Given the description of an element on the screen output the (x, y) to click on. 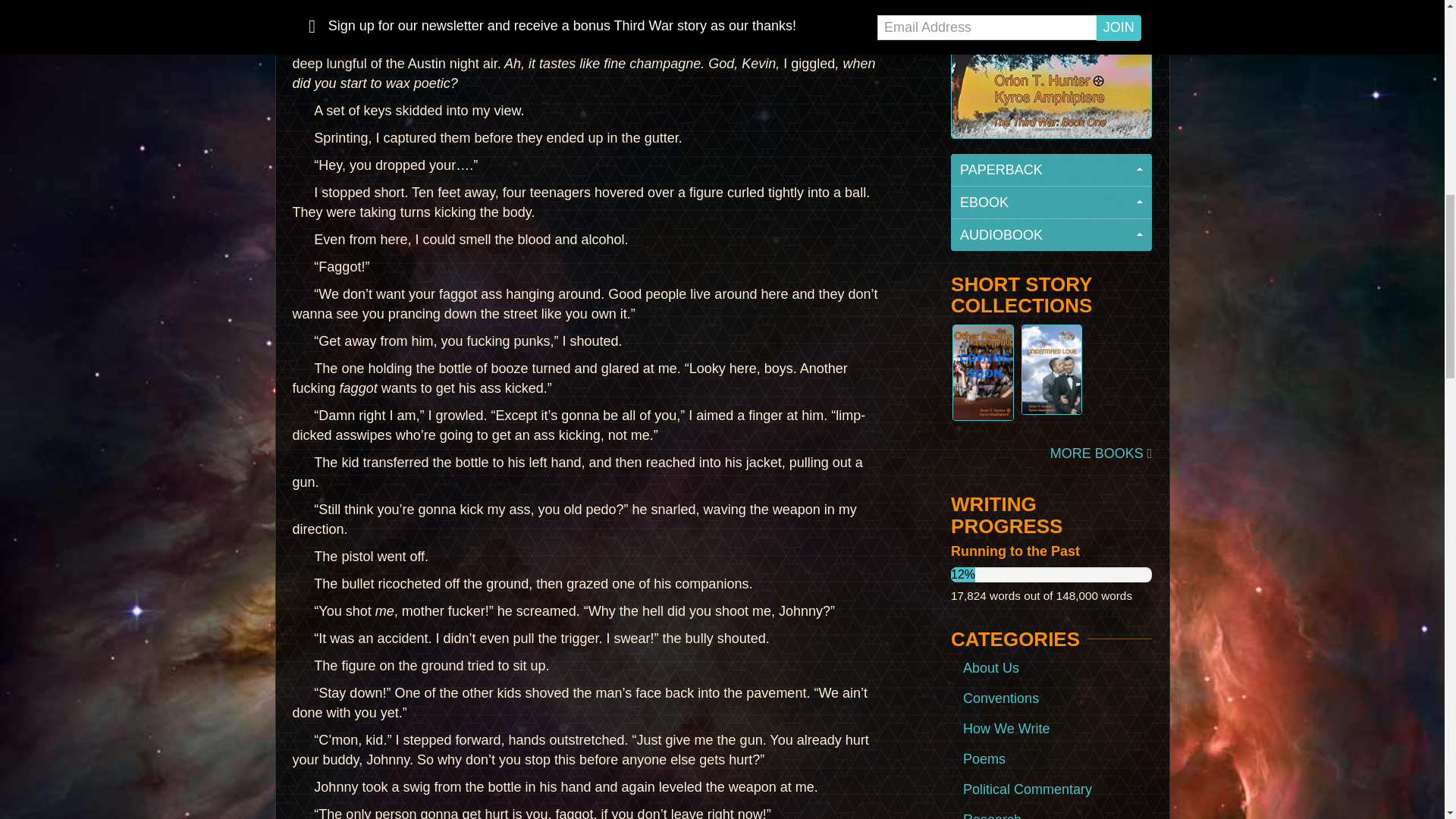
MORE BOOKS (1101, 453)
AUDIOBOOK (1050, 234)
EBOOK (1050, 202)
PAPERBACK (1050, 169)
